Given the description of an element on the screen output the (x, y) to click on. 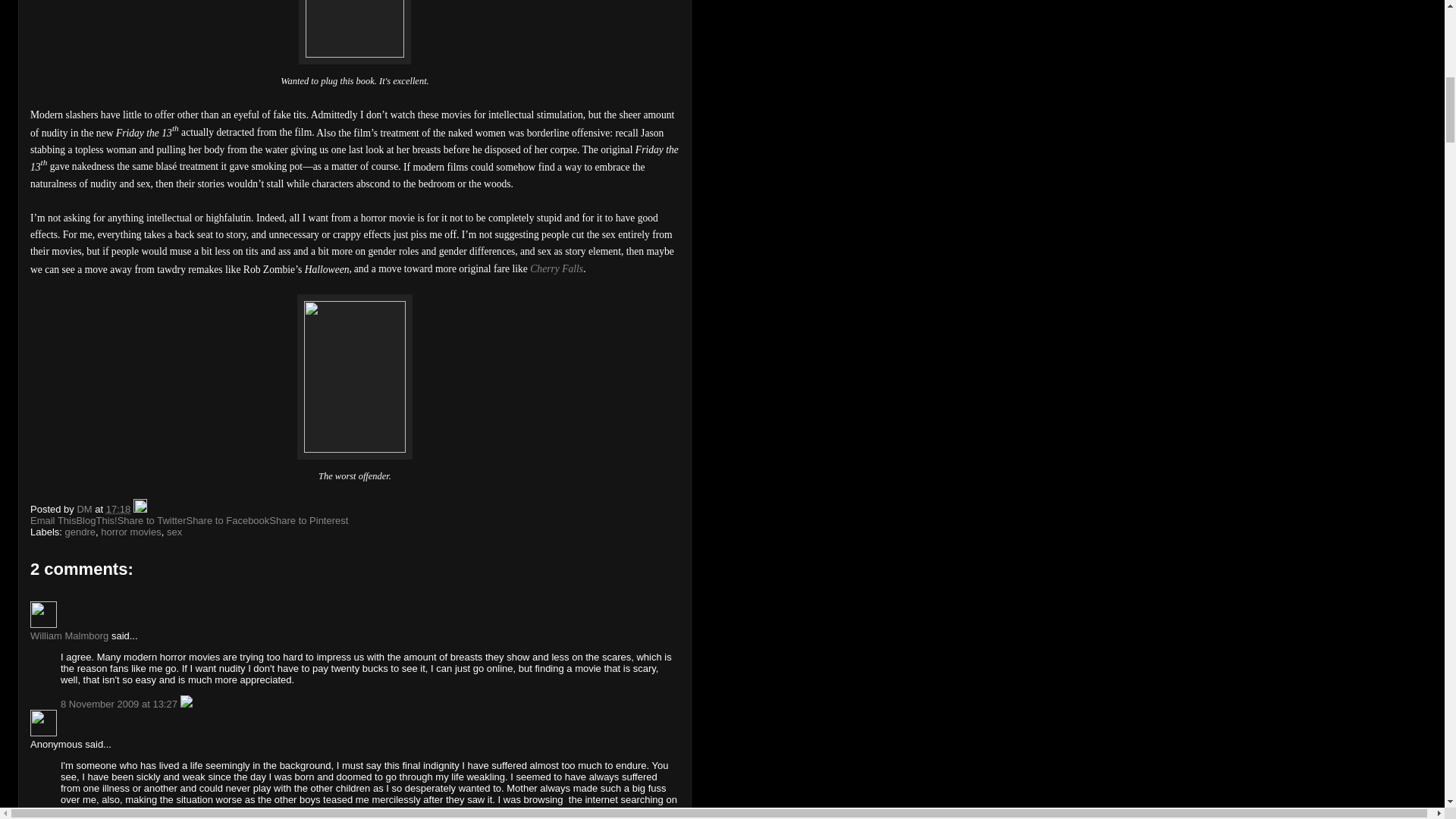
Share to Facebook (227, 520)
Anonymous (43, 723)
comment permalink (120, 704)
8 November 2009 at 13:27 (120, 704)
BlogThis! (95, 520)
DM (85, 509)
Edit Post (140, 509)
Email This (52, 520)
horror movies (130, 531)
Delete Comment (186, 704)
BlogThis! (95, 520)
permanent link (118, 509)
William Malmborg (43, 614)
author profile (85, 509)
Share to Pinterest (308, 520)
